Given the description of an element on the screen output the (x, y) to click on. 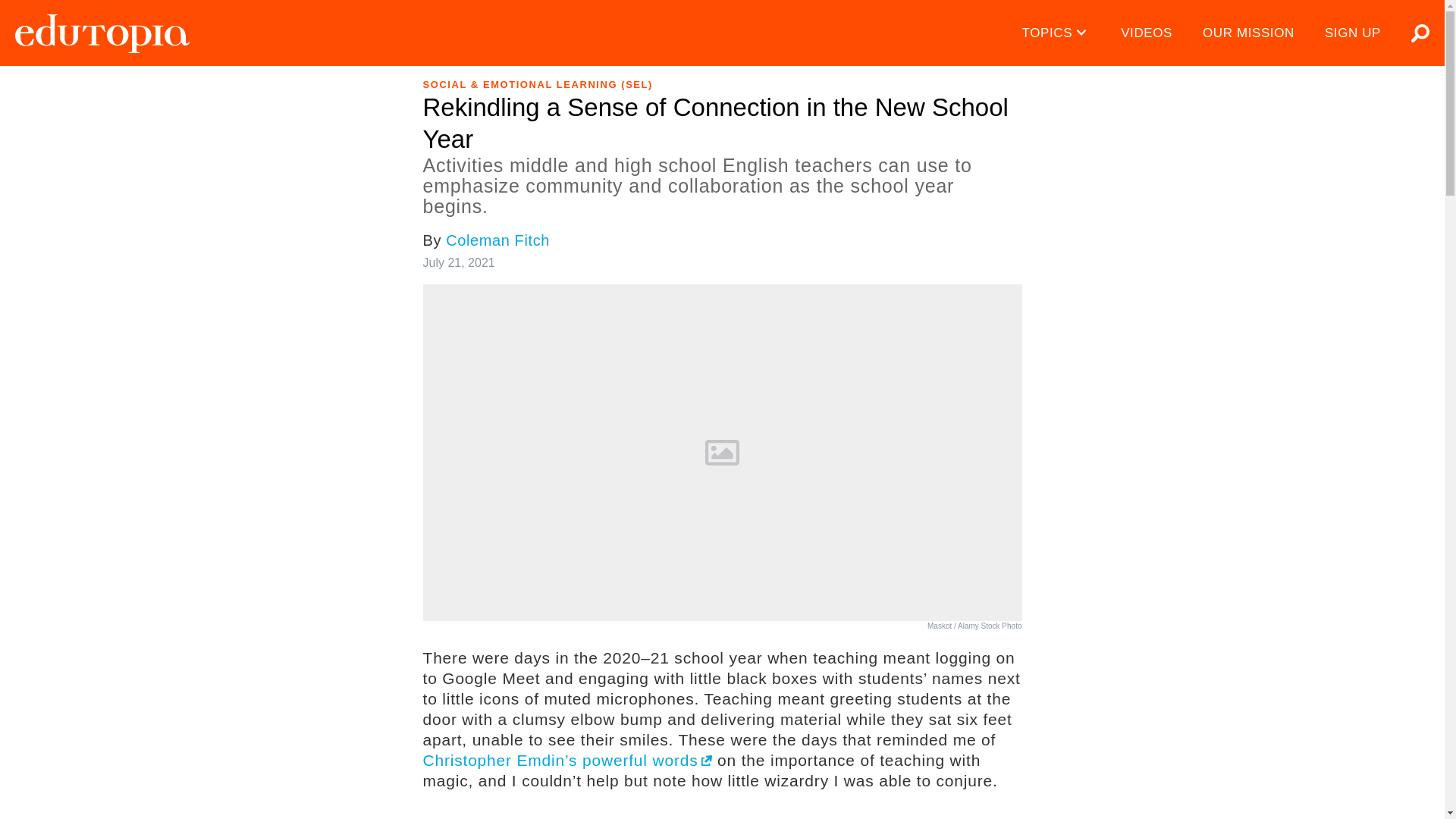
Edutopia (101, 33)
Edutopia (101, 33)
VIDEOS (1146, 33)
OUR MISSION (1248, 33)
SIGN UP (1352, 33)
TOPICS (1056, 33)
Coleman Fitch (497, 239)
